Given the description of an element on the screen output the (x, y) to click on. 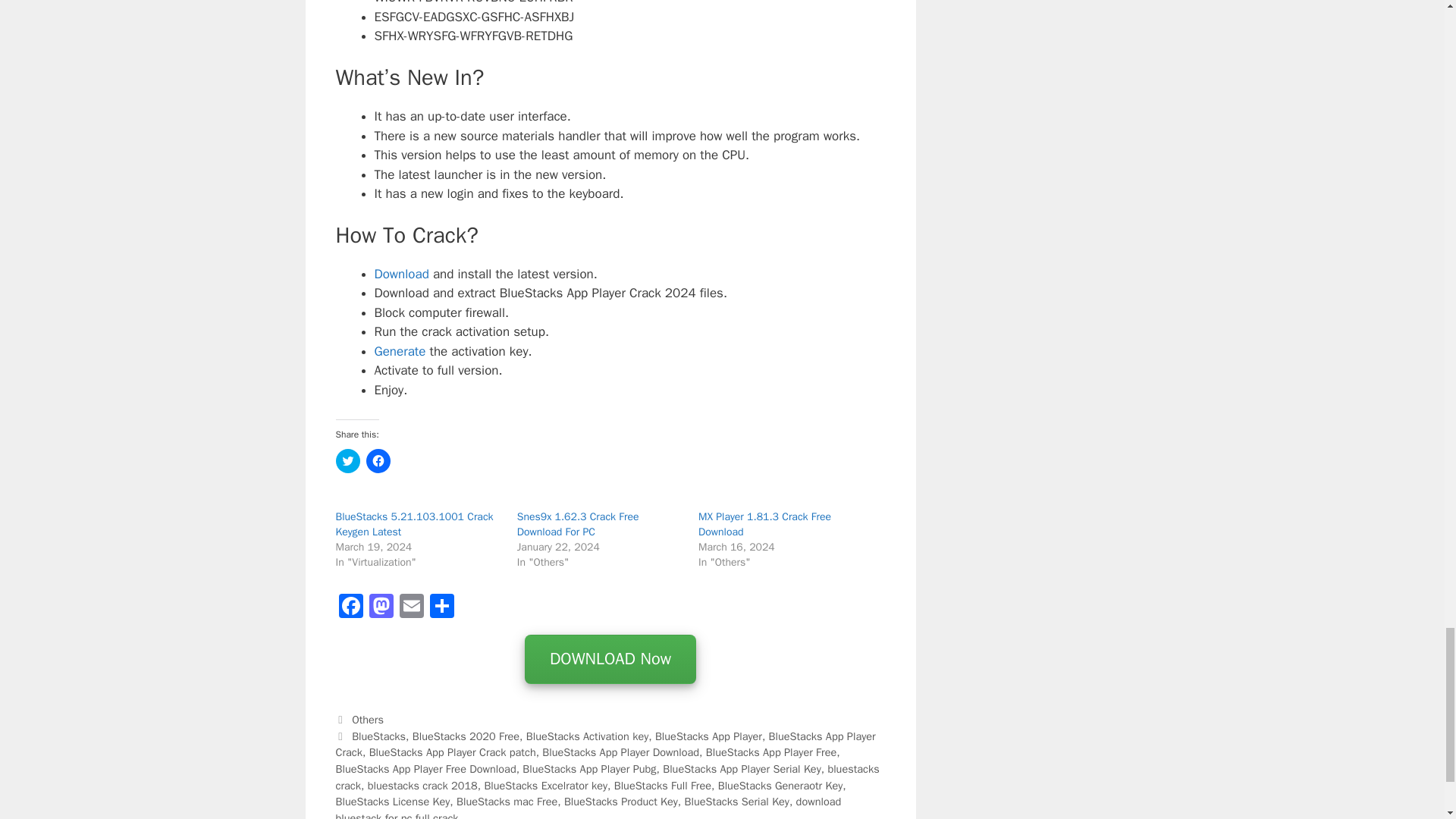
BlueStacks 5.21.103.1001 Crack Keygen Latest (413, 524)
BlueStacks App Player (708, 735)
BlueStacks App Player Crack patch (452, 752)
BlueStacks 2020 Free (465, 735)
Facebook (349, 607)
BlueStacks App Player Crack (604, 744)
Mastodon (380, 607)
Others (368, 719)
MX Player 1.81.3 Crack Free Download (764, 524)
Facebook (349, 607)
DOWNLOAD Now (609, 659)
MX Player 1.81.3 Crack Free Download (764, 524)
Mastodon (380, 607)
Email (411, 607)
BlueStacks Activation key (586, 735)
